Given the description of an element on the screen output the (x, y) to click on. 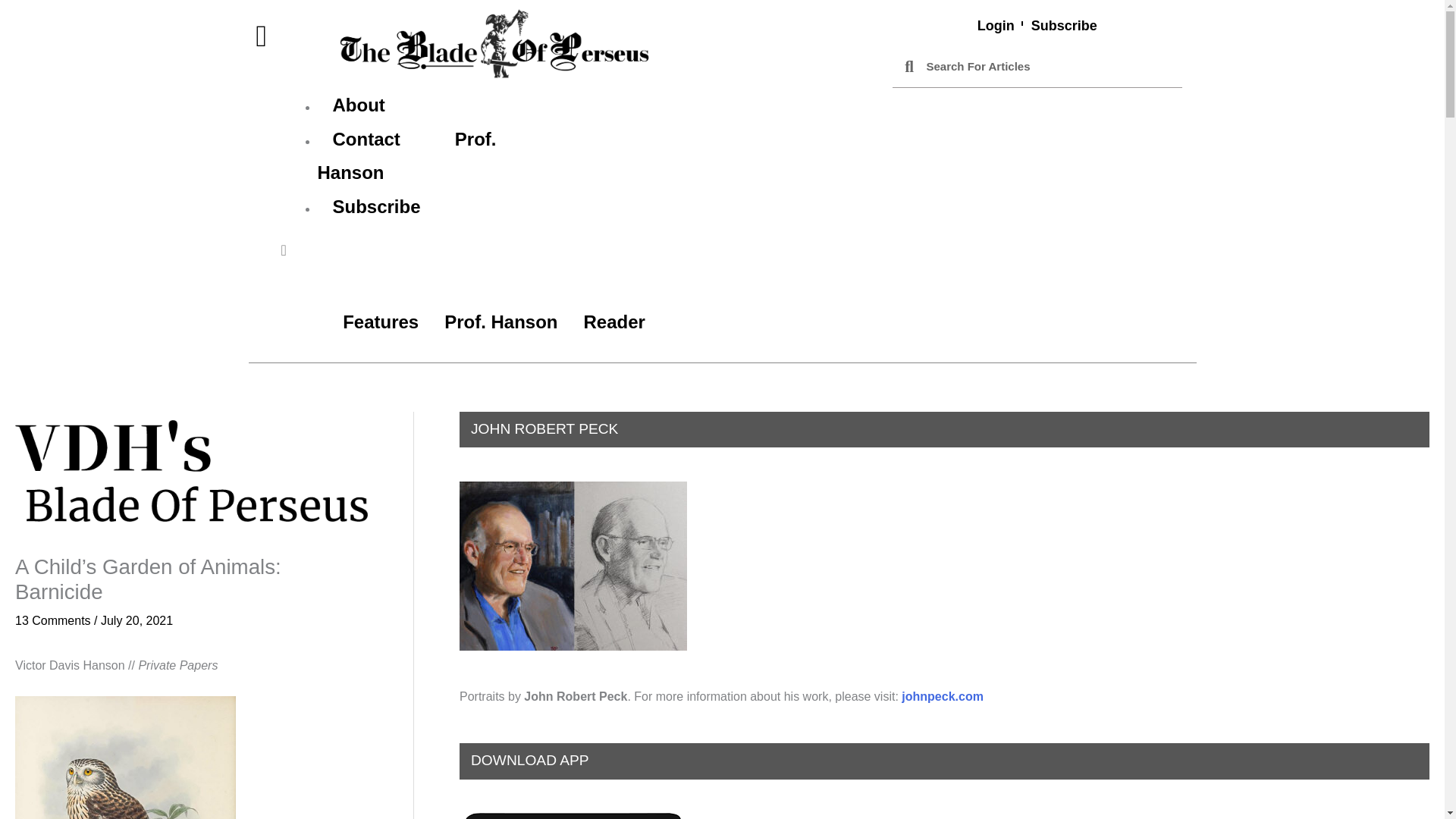
Subscribe (376, 205)
Contact Prof. Hanson (406, 156)
Subscribe (1064, 25)
About (357, 104)
Features (380, 321)
Prof. Hanson (500, 321)
Login (996, 25)
Reader (614, 321)
